Given the description of an element on the screen output the (x, y) to click on. 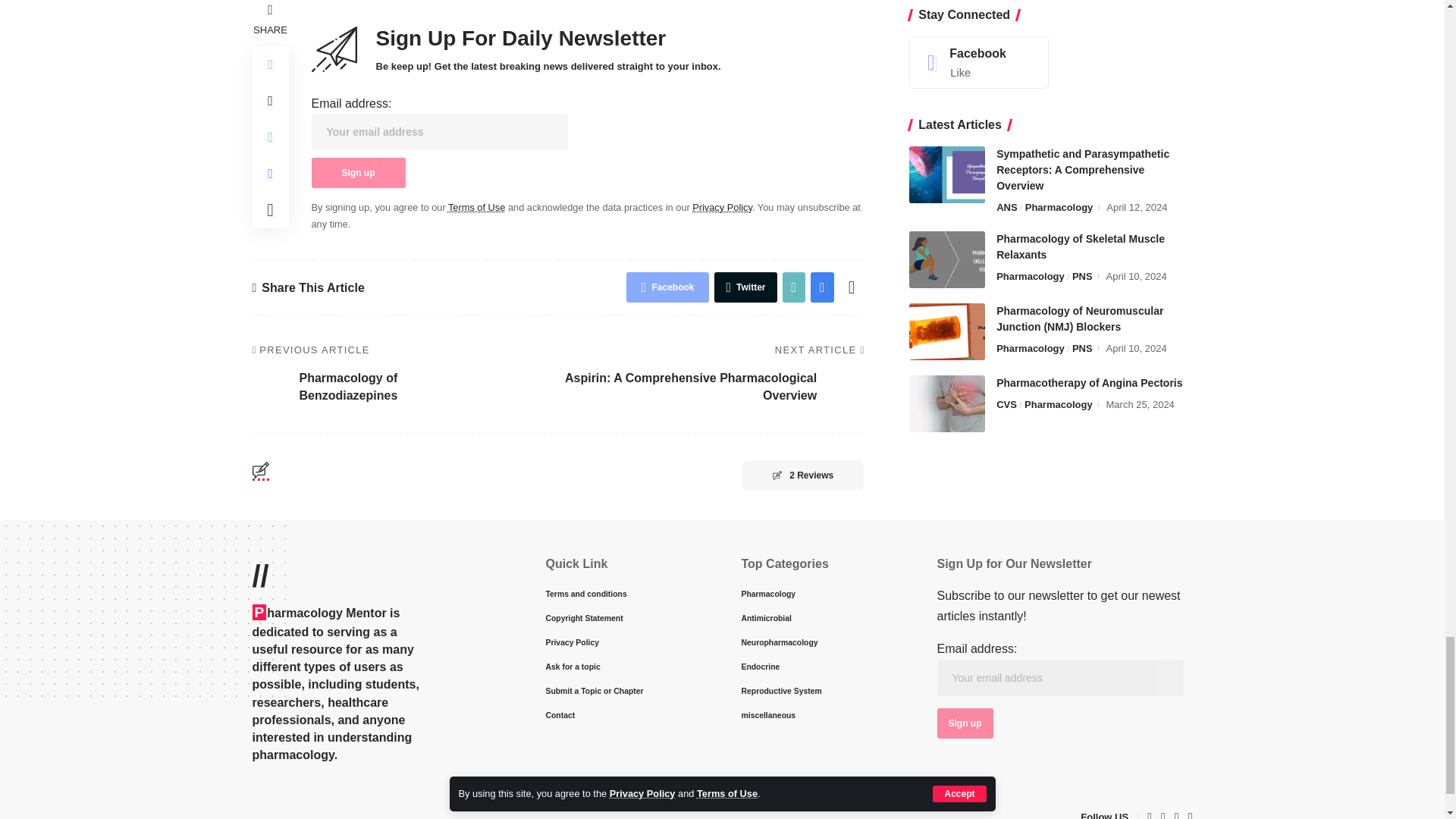
Pharmacology Mentor (314, 808)
Sign up (357, 173)
Sign up (964, 723)
